Given the description of an element on the screen output the (x, y) to click on. 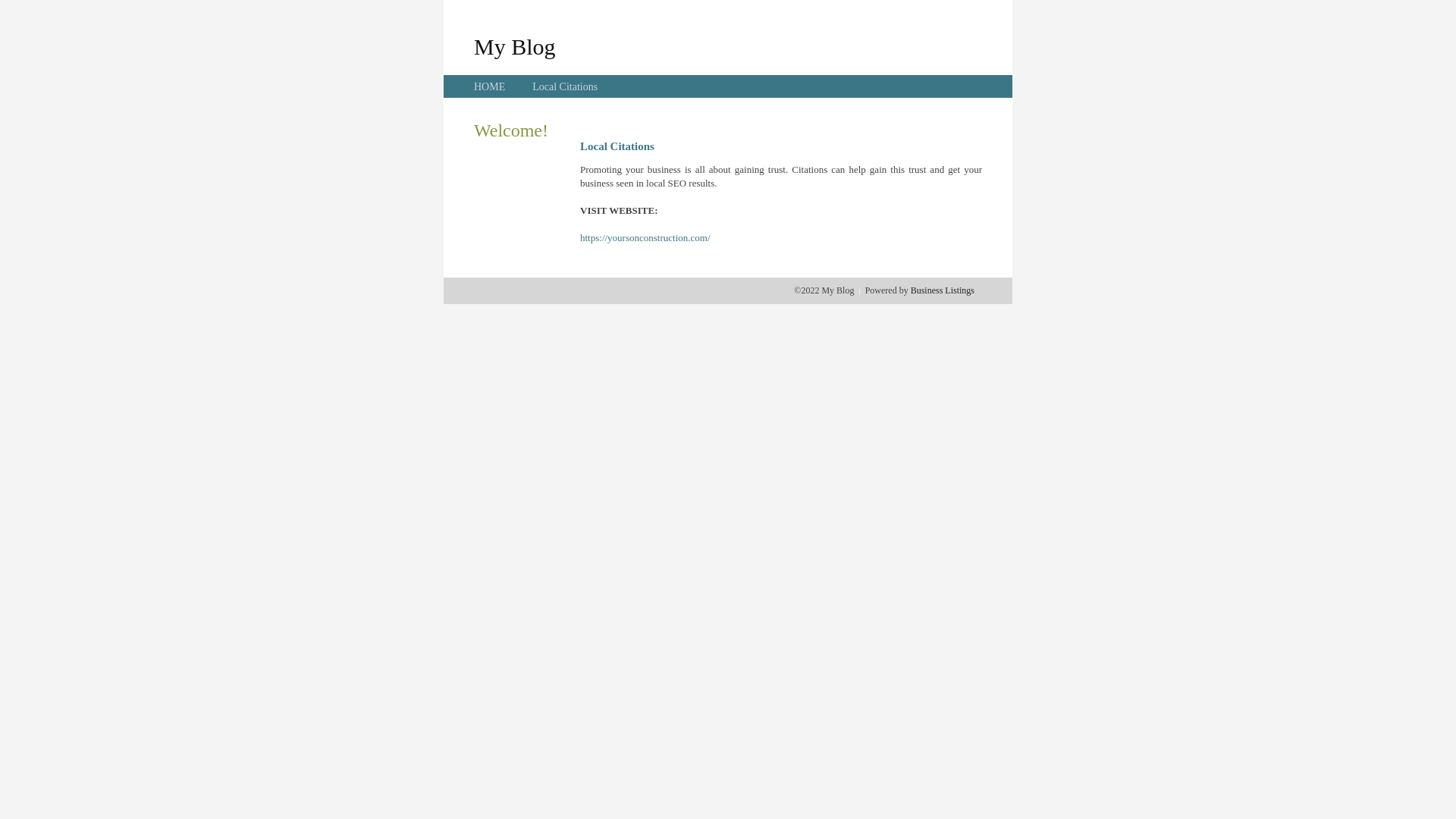
Business Listings Element type: text (942, 290)
Local Citations Element type: text (564, 86)
HOME Element type: text (489, 86)
https://yoursonconstruction.com/ Element type: text (645, 237)
My Blog Element type: text (514, 46)
